Given the description of an element on the screen output the (x, y) to click on. 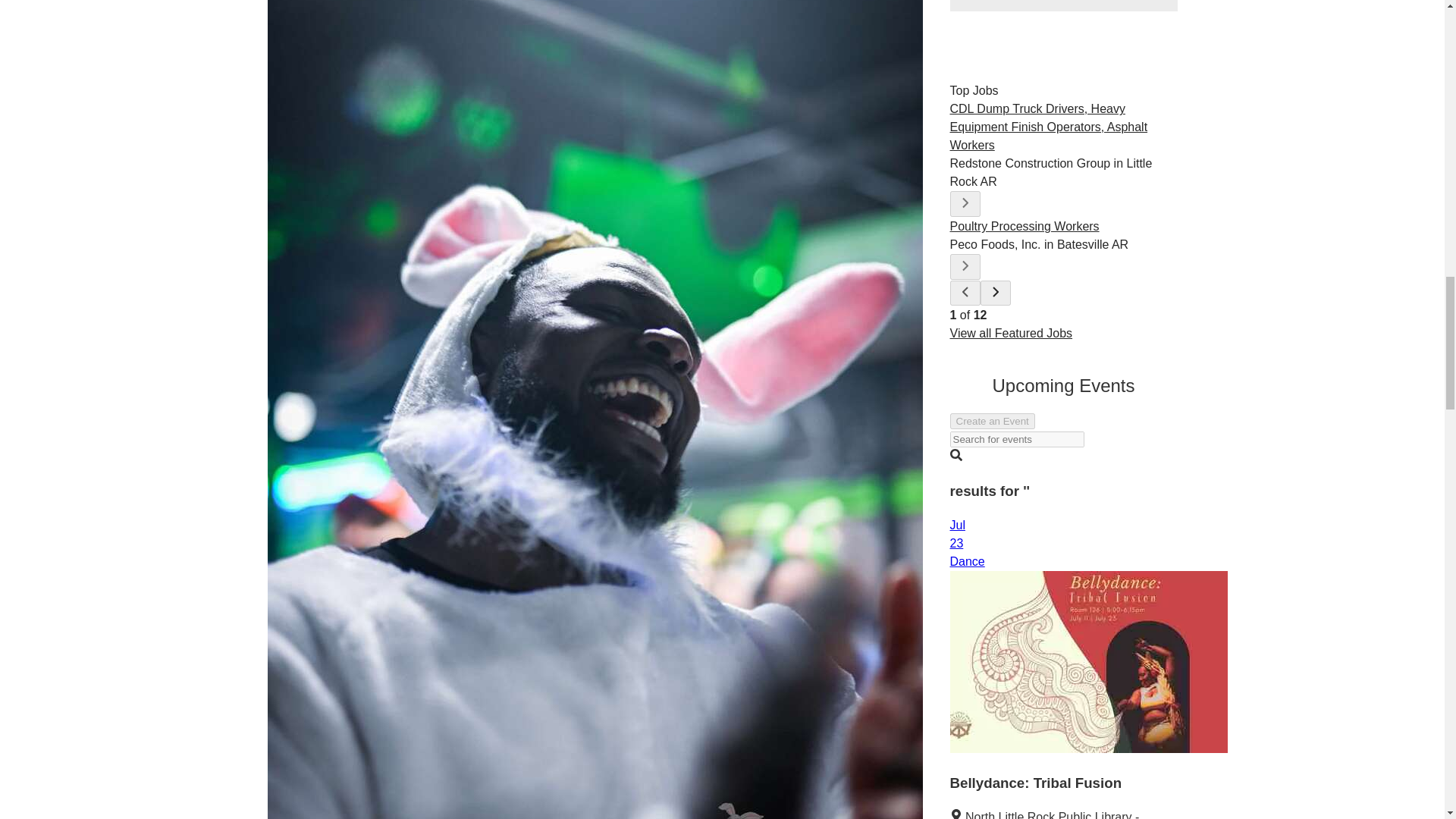
3rd party ad content (1062, 5)
